Given the description of an element on the screen output the (x, y) to click on. 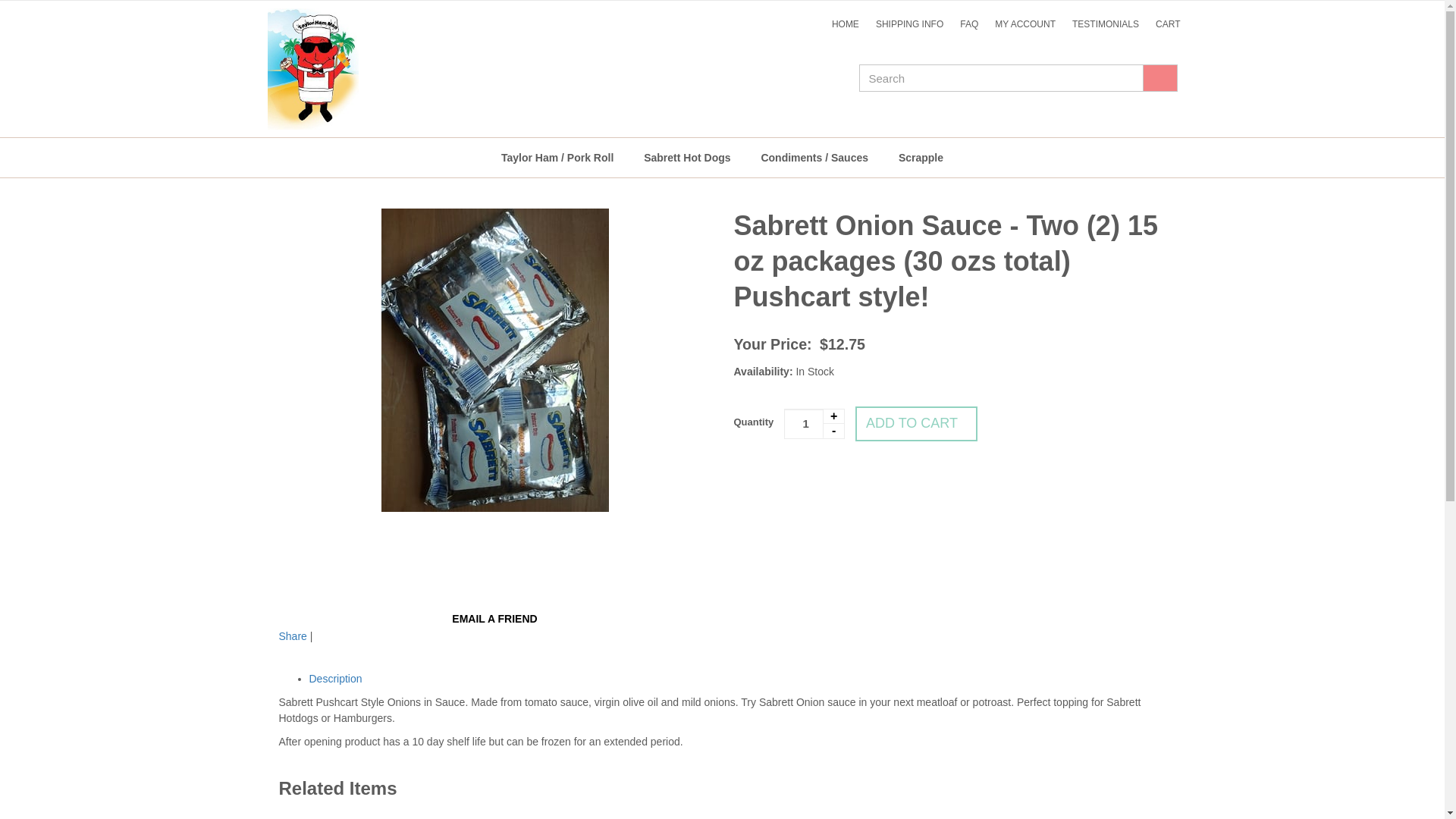
HOME (845, 24)
Share (293, 635)
FAQ (969, 24)
ADD TO CART (916, 423)
- (833, 431)
SHIPPING INFO (909, 24)
MY ACCOUNT (1025, 24)
EMAIL A FRIEND (493, 619)
Scrapple (920, 157)
CART (1167, 24)
TESTIMONIALS (1105, 24)
Sabrett Hot Dogs (687, 157)
1 (814, 423)
